Given the description of an element on the screen output the (x, y) to click on. 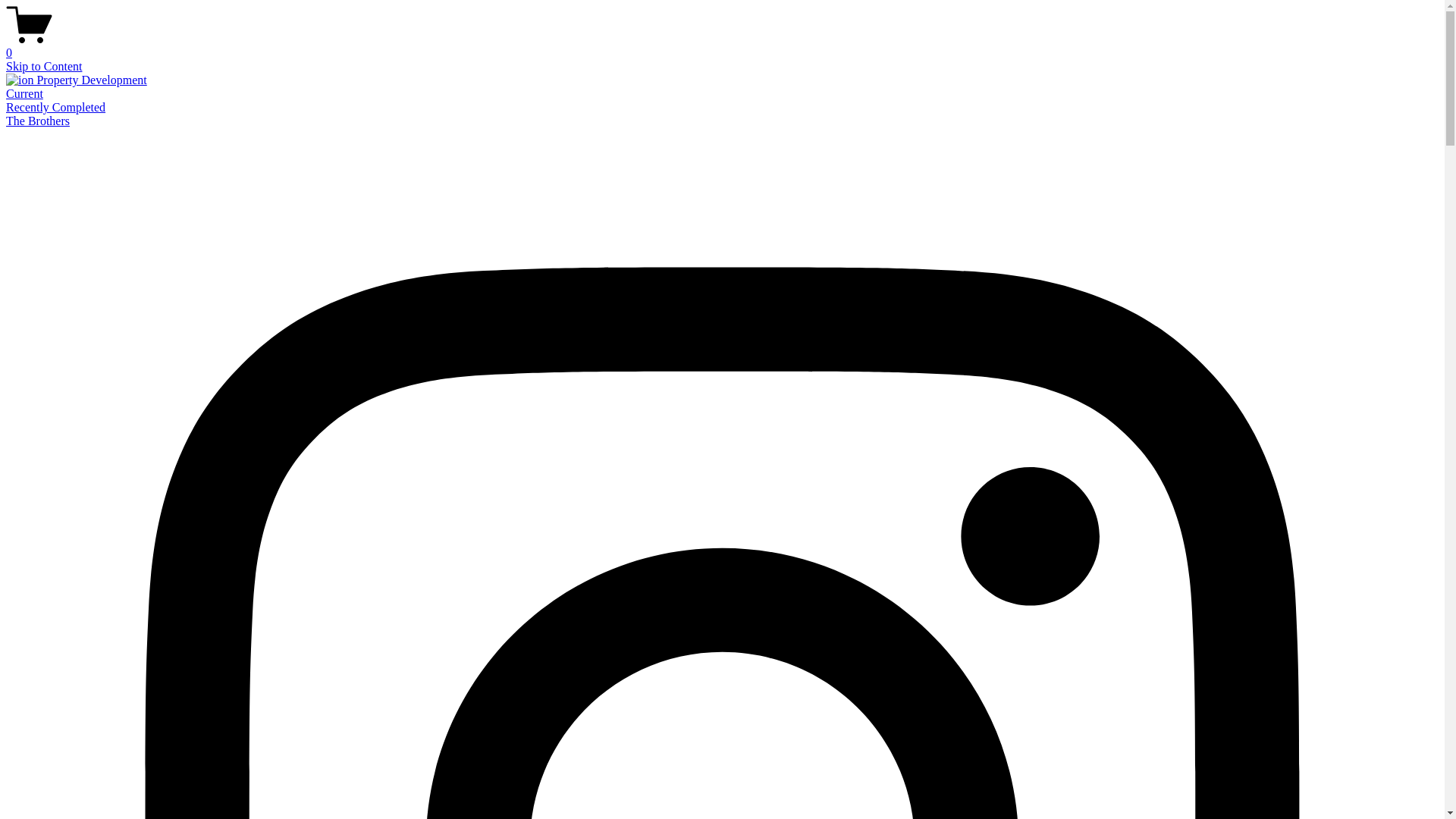
Recently Completed Element type: text (55, 106)
Skip to Content Element type: text (43, 65)
The Brothers Element type: text (37, 120)
0 Element type: text (722, 45)
Current Element type: text (24, 93)
